Given the description of an element on the screen output the (x, y) to click on. 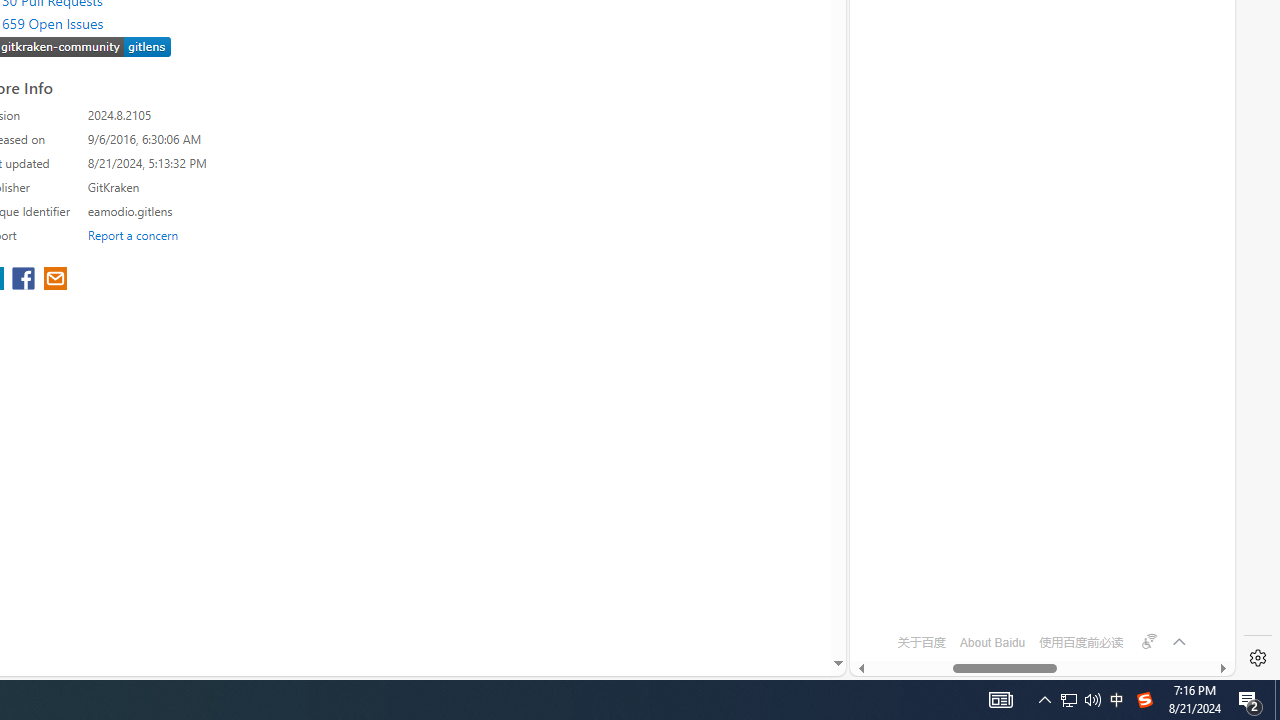
About Baidu (992, 642)
OFTV - Enjoy videos from your favorite OF creators! (1034, 604)
Actions for this site (1149, 184)
share extension on facebook (26, 280)
OFTV (1034, 587)
share extension on email (54, 280)
Global web icon (888, 587)
